Given the description of an element on the screen output the (x, y) to click on. 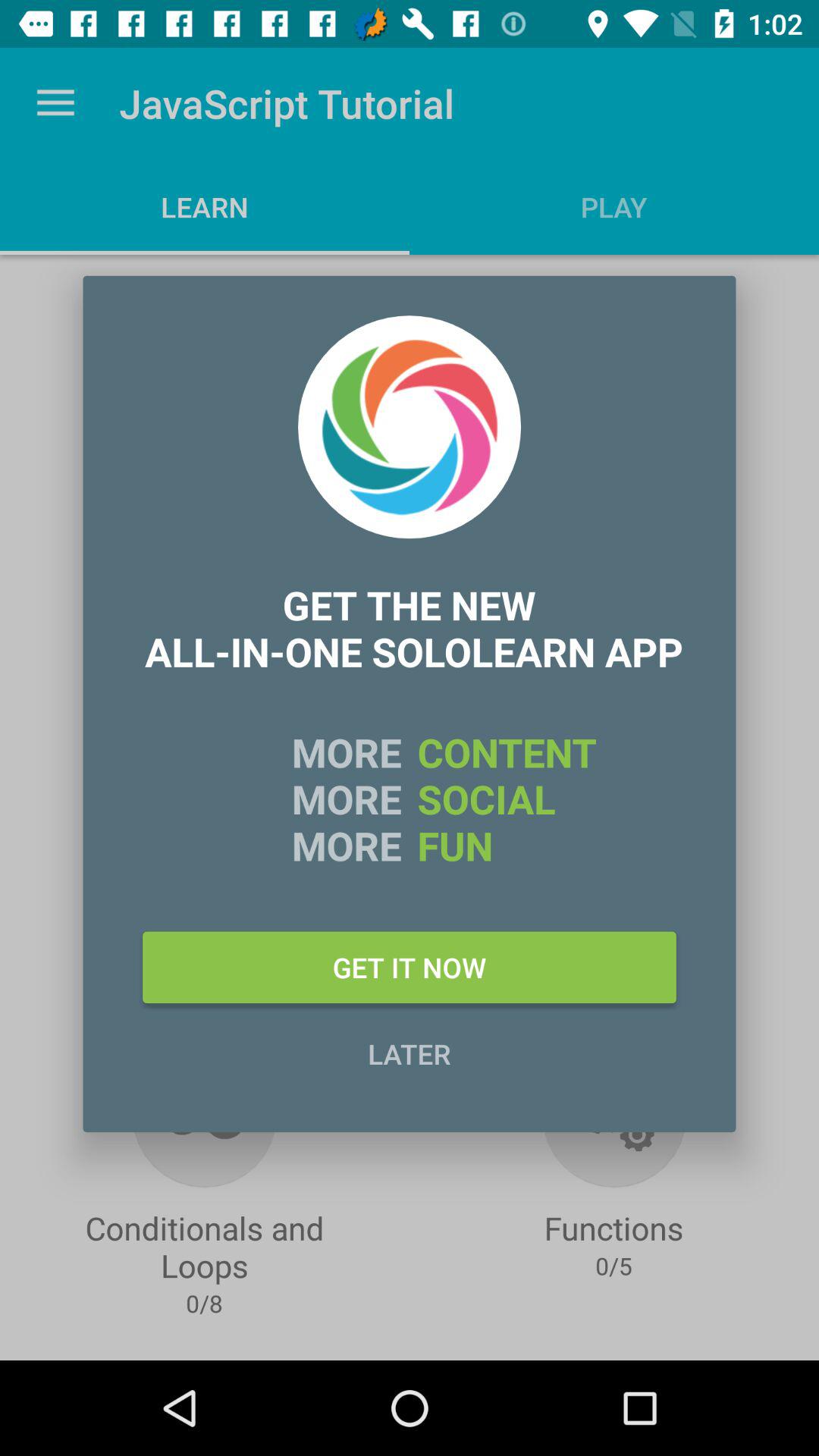
scroll until get it now icon (409, 967)
